Given the description of an element on the screen output the (x, y) to click on. 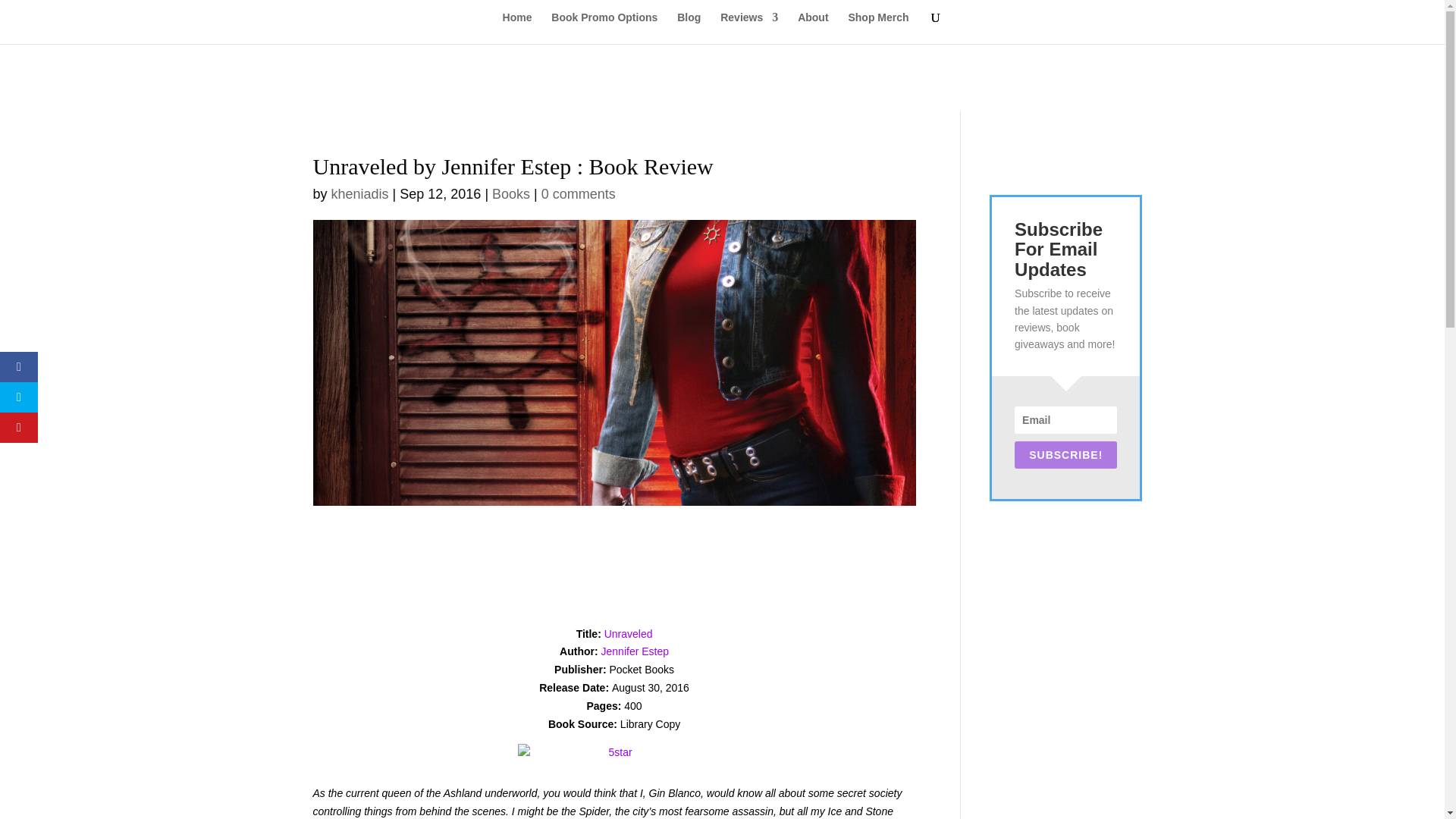
0 comments (578, 193)
Home (517, 28)
Books (510, 193)
Book Promo Options (604, 28)
Jennifer Estep (635, 651)
SUBSCRIBE! (1065, 454)
Shop Merch (877, 28)
Unraveled (628, 633)
kheniadis (359, 193)
Posts by kheniadis (359, 193)
Reviews (748, 28)
About (812, 28)
